Given the description of an element on the screen output the (x, y) to click on. 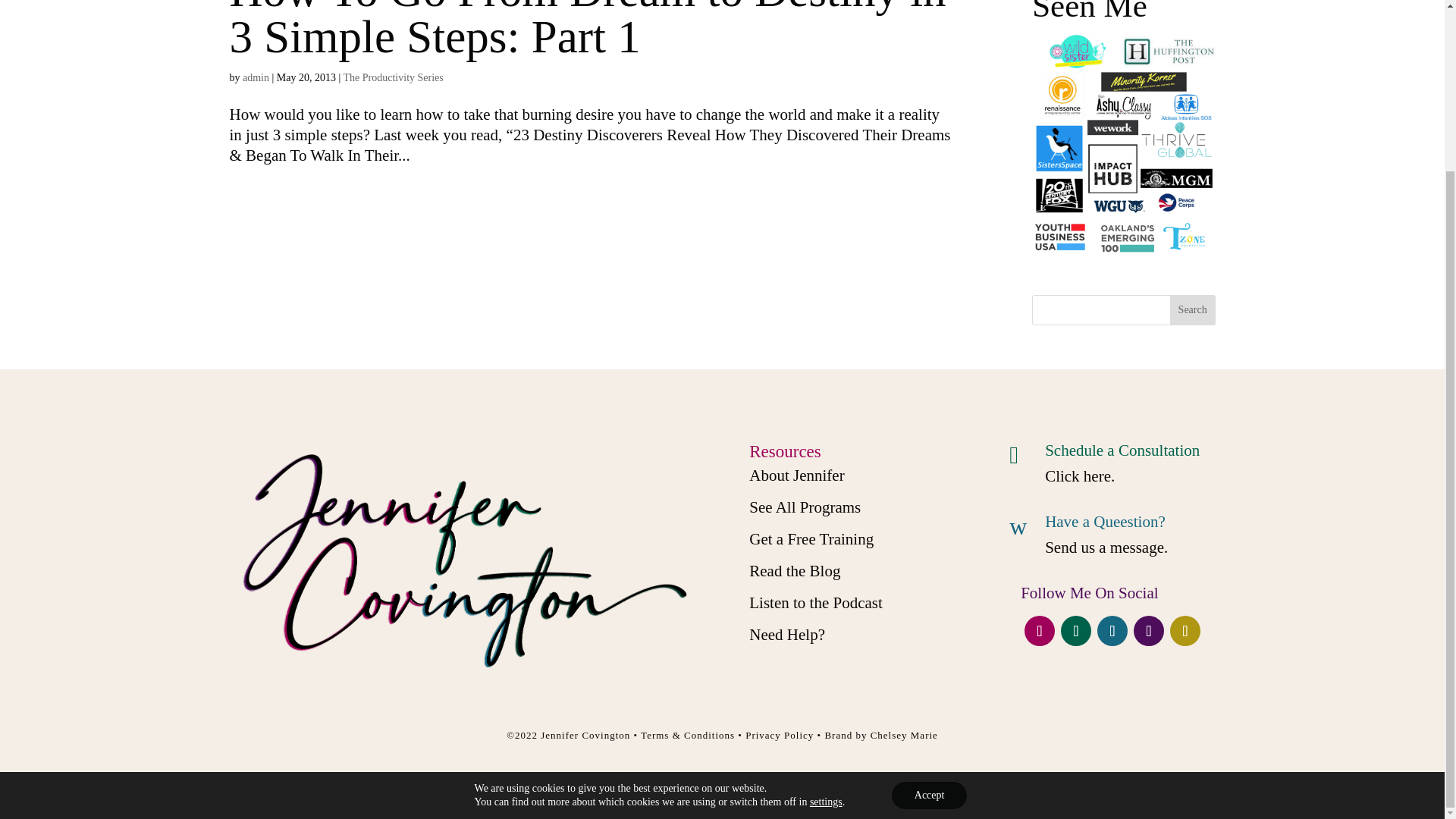
Search (1192, 309)
See All Programs (804, 506)
Listen to the Podcast (815, 602)
Posts by admin (256, 77)
The Productivity Series (393, 77)
Search (1192, 309)
Follow on LinkedIn (1148, 630)
About Jennifer (796, 475)
Follow on Facebook (1039, 630)
Stacked Logo (461, 559)
How To Go From Dream to Destiny in 3 Simple Steps: Part 1 (586, 31)
Need Help? (787, 634)
Read the Blog (794, 570)
Follow on Pinterest (1184, 630)
w (1021, 526)
